Given the description of an element on the screen output the (x, y) to click on. 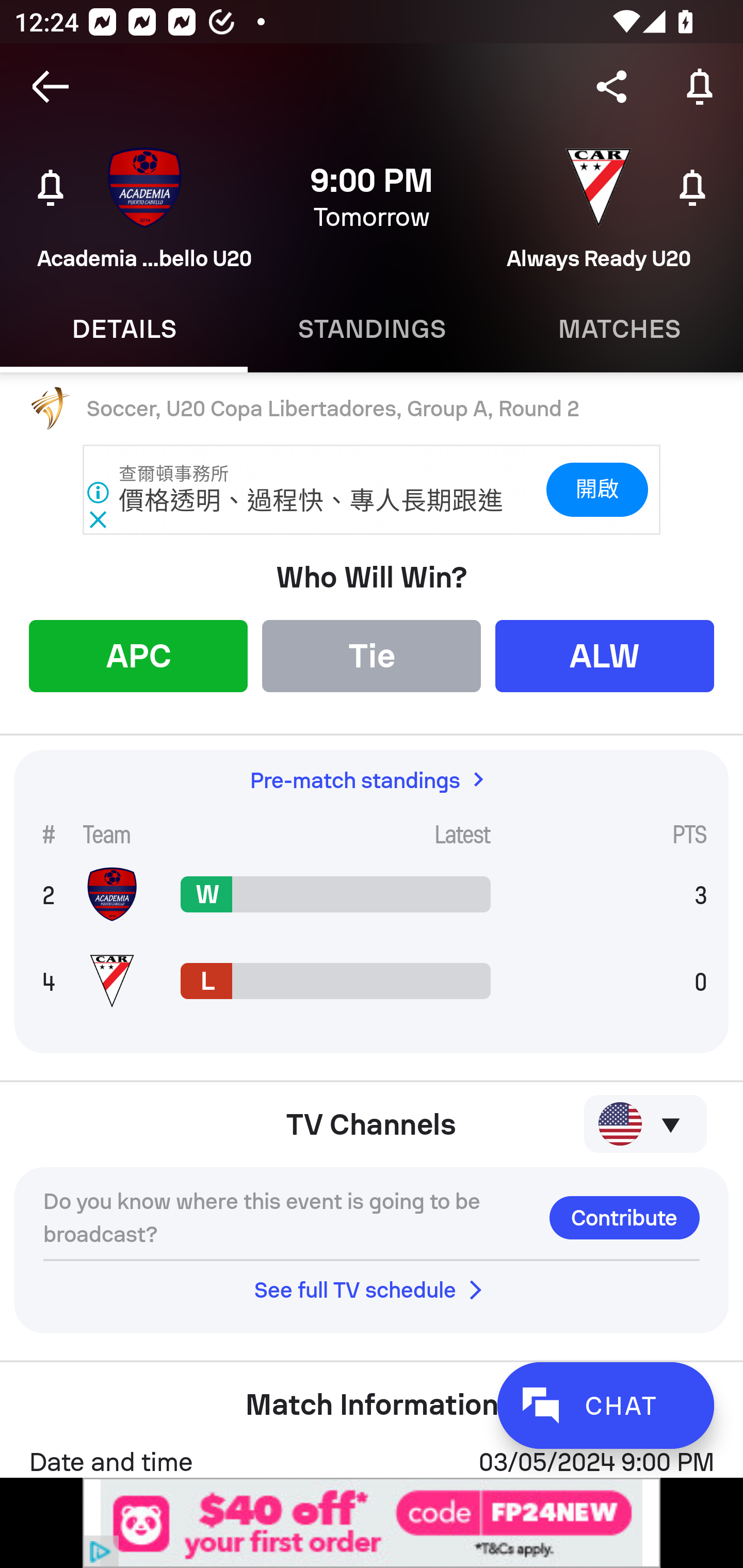
Navigate up (50, 86)
Standings STANDINGS (371, 329)
Matches MATCHES (619, 329)
Soccer, U20 Copa Libertadores, Group A, Round 2 (371, 409)
查爾頓事務所 (174, 474)
開啟 (596, 489)
價格透明、過程快、專人長期跟進 (311, 500)
APC (137, 655)
Tie (371, 655)
ALW (604, 655)
Pre-match standings # Team Latest PTS 2 W 3 4 L 0 (371, 901)
Contribute (624, 1217)
See full TV schedule (371, 1289)
CHAT (605, 1405)
cf281ee6b5b36c080d8d (371, 1522)
